Given the description of an element on the screen output the (x, y) to click on. 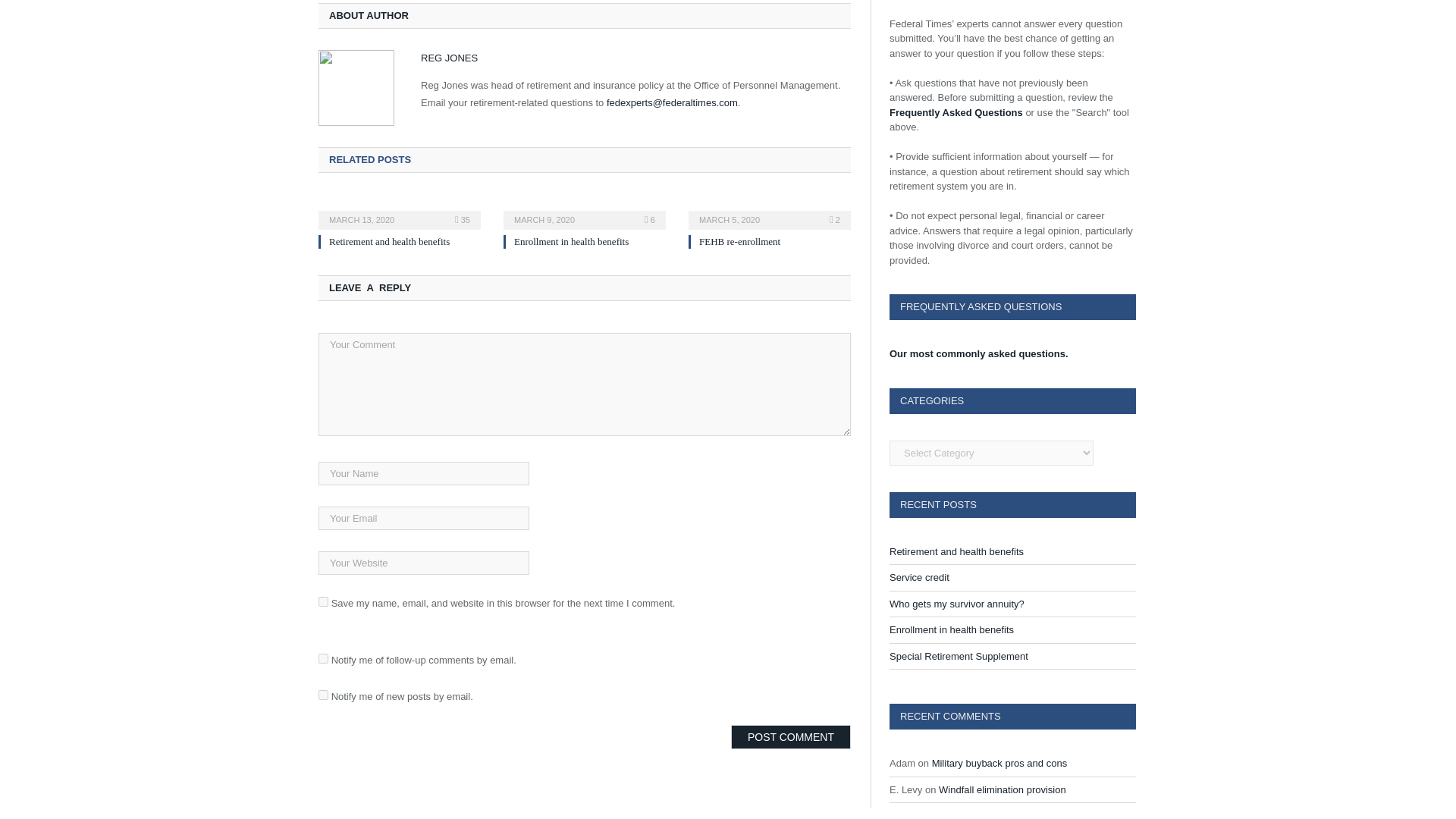
subscribe (323, 695)
Post Comment (790, 736)
subscribe (323, 658)
yes (323, 601)
